Given the description of an element on the screen output the (x, y) to click on. 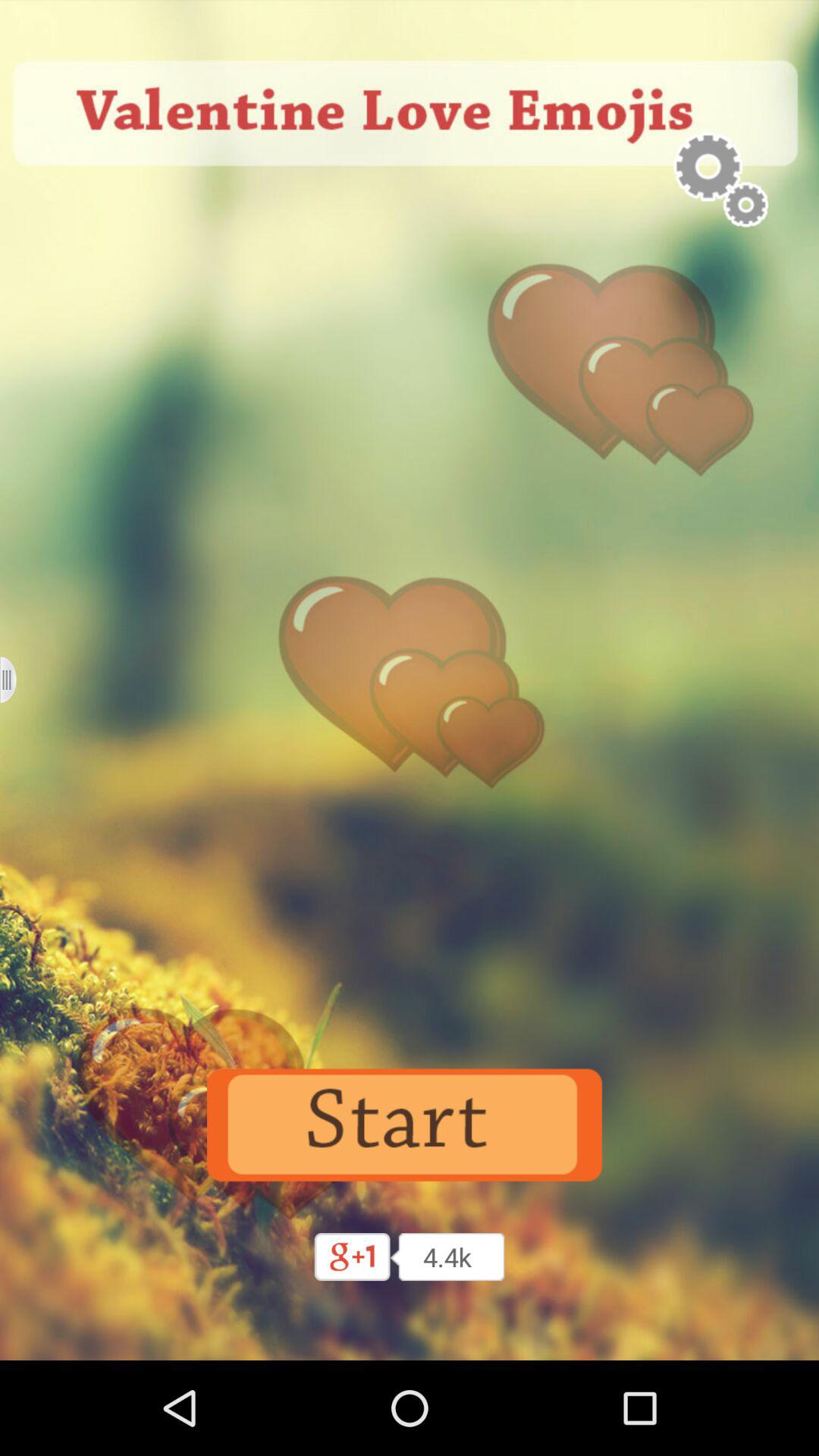
start (409, 1125)
